Given the description of an element on the screen output the (x, y) to click on. 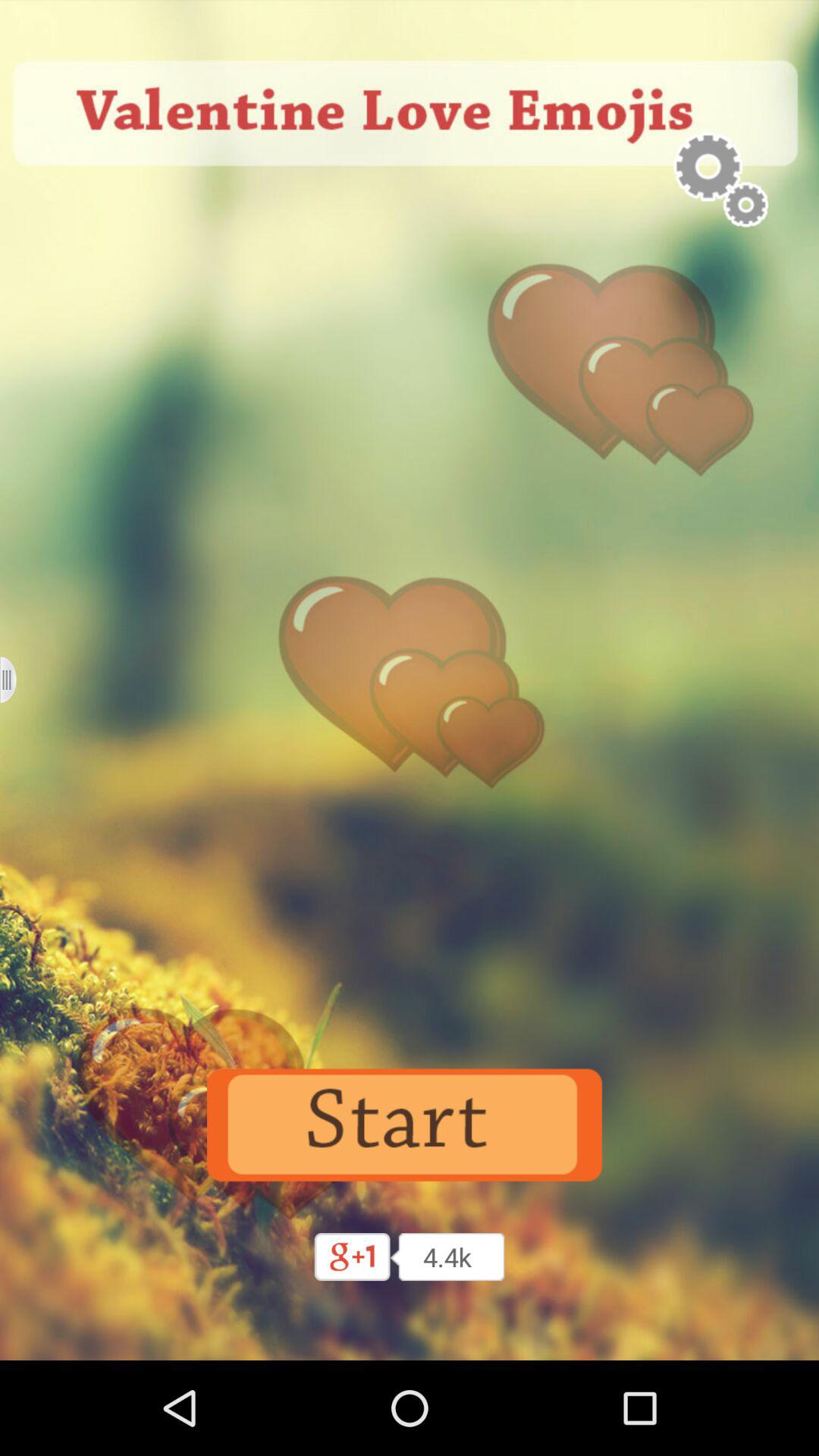
start (409, 1125)
